Given the description of an element on the screen output the (x, y) to click on. 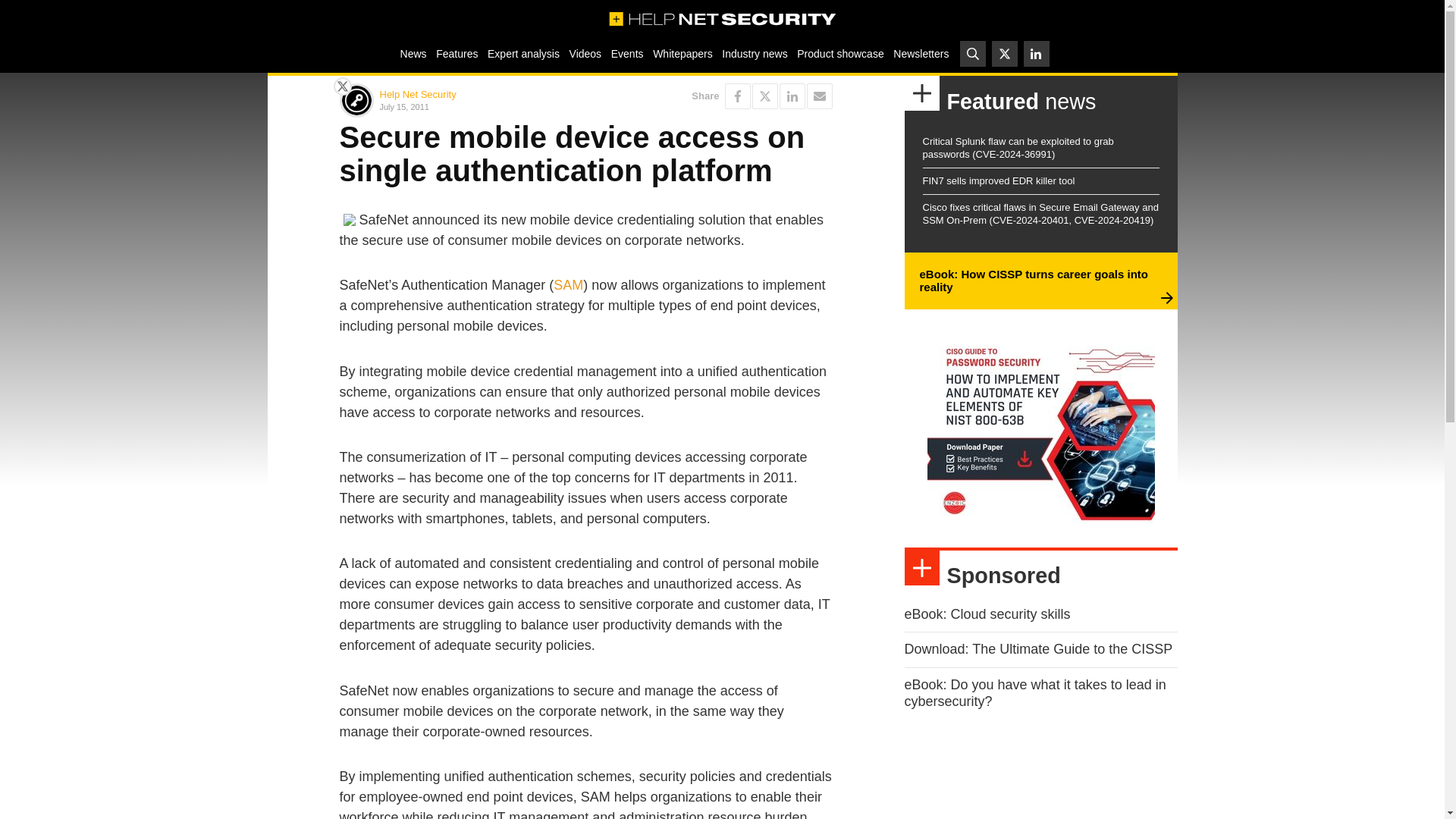
FIN7 sells improved EDR killer tool (997, 180)
eBook: Cloud security skills (987, 613)
Product showcase (840, 53)
eBook: How CISSP turns career goals into reality (1032, 280)
eBook: Do you have what it takes to lead in cybersecurity? (1035, 693)
Whitepapers (682, 53)
SAM (568, 284)
July 15, 2011 (478, 106)
Features (456, 53)
News (412, 53)
Videos (584, 53)
Industry news (754, 53)
